Given the description of an element on the screen output the (x, y) to click on. 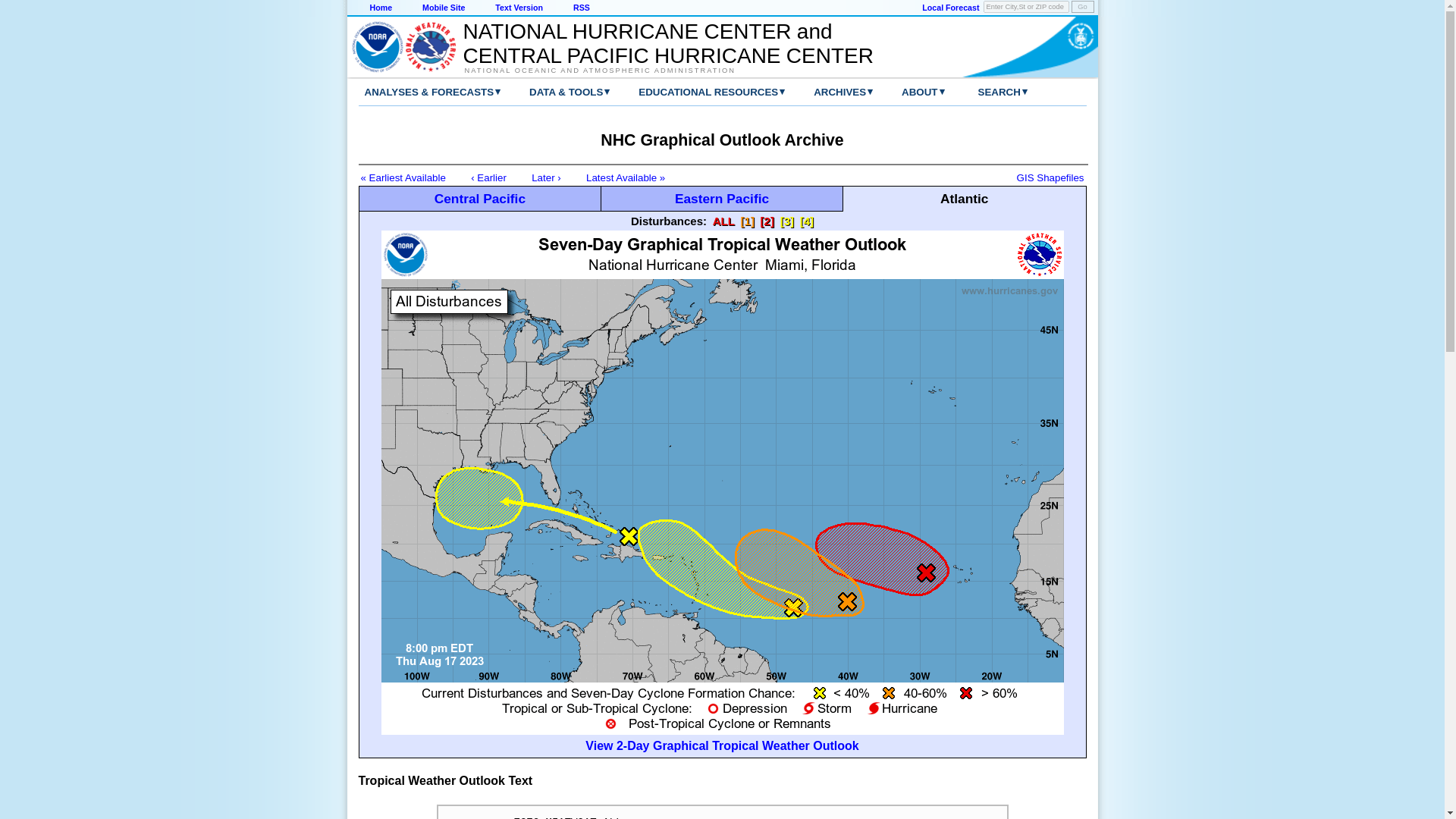
Local Forecast (949, 7)
Home (381, 7)
RSS (581, 7)
NATIONAL OCEANIC AND ATMOSPHERIC ADMINISTRATION (659, 70)
Go (1081, 6)
EDUCATIONAL RESOURCES (696, 91)
Mobile Site (443, 7)
Enter City,St or ZIP code (1026, 6)
Text Version (519, 7)
Go (1081, 6)
